Given the description of an element on the screen output the (x, y) to click on. 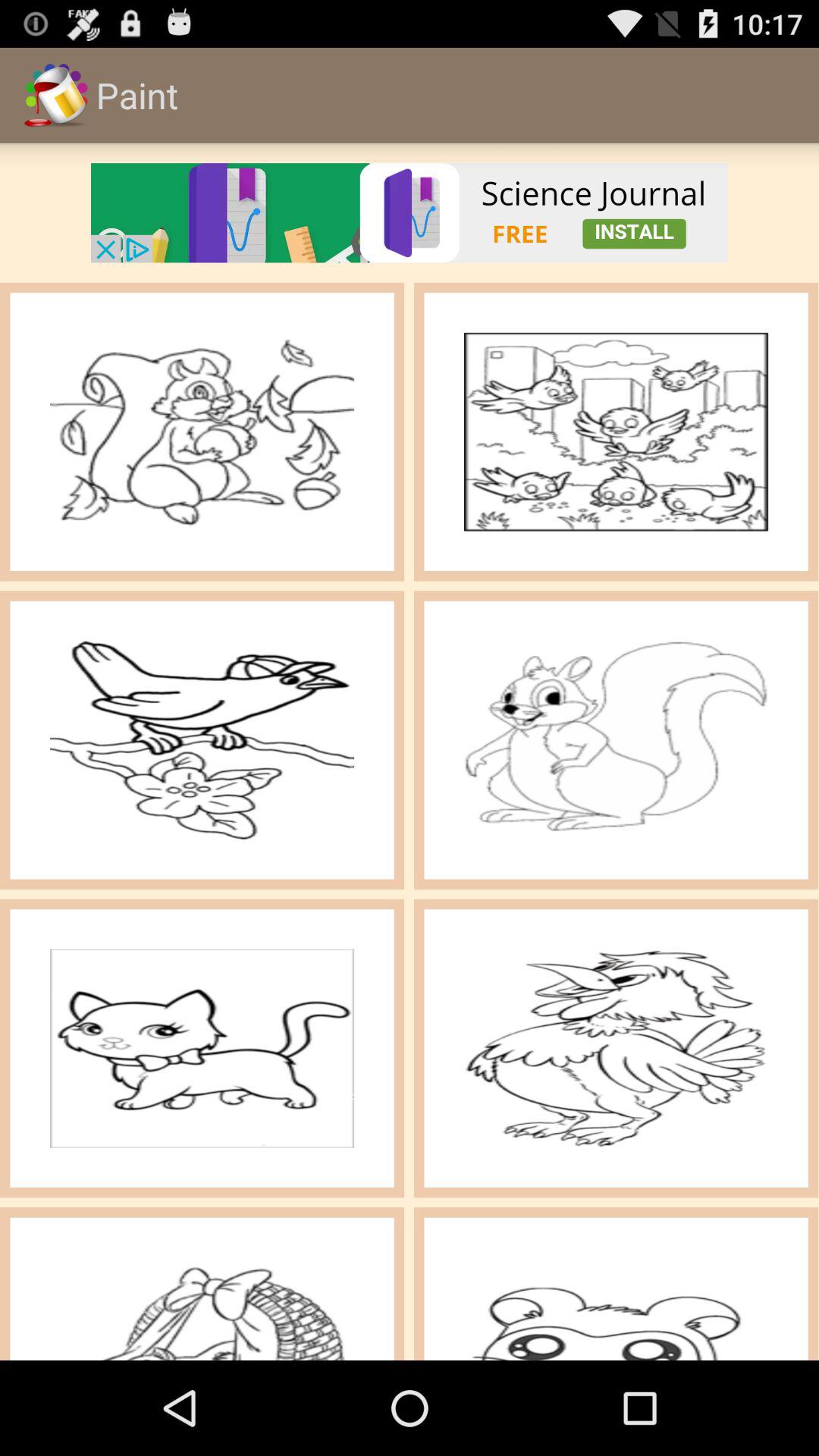
click to go to advt page (409, 212)
